Given the description of an element on the screen output the (x, y) to click on. 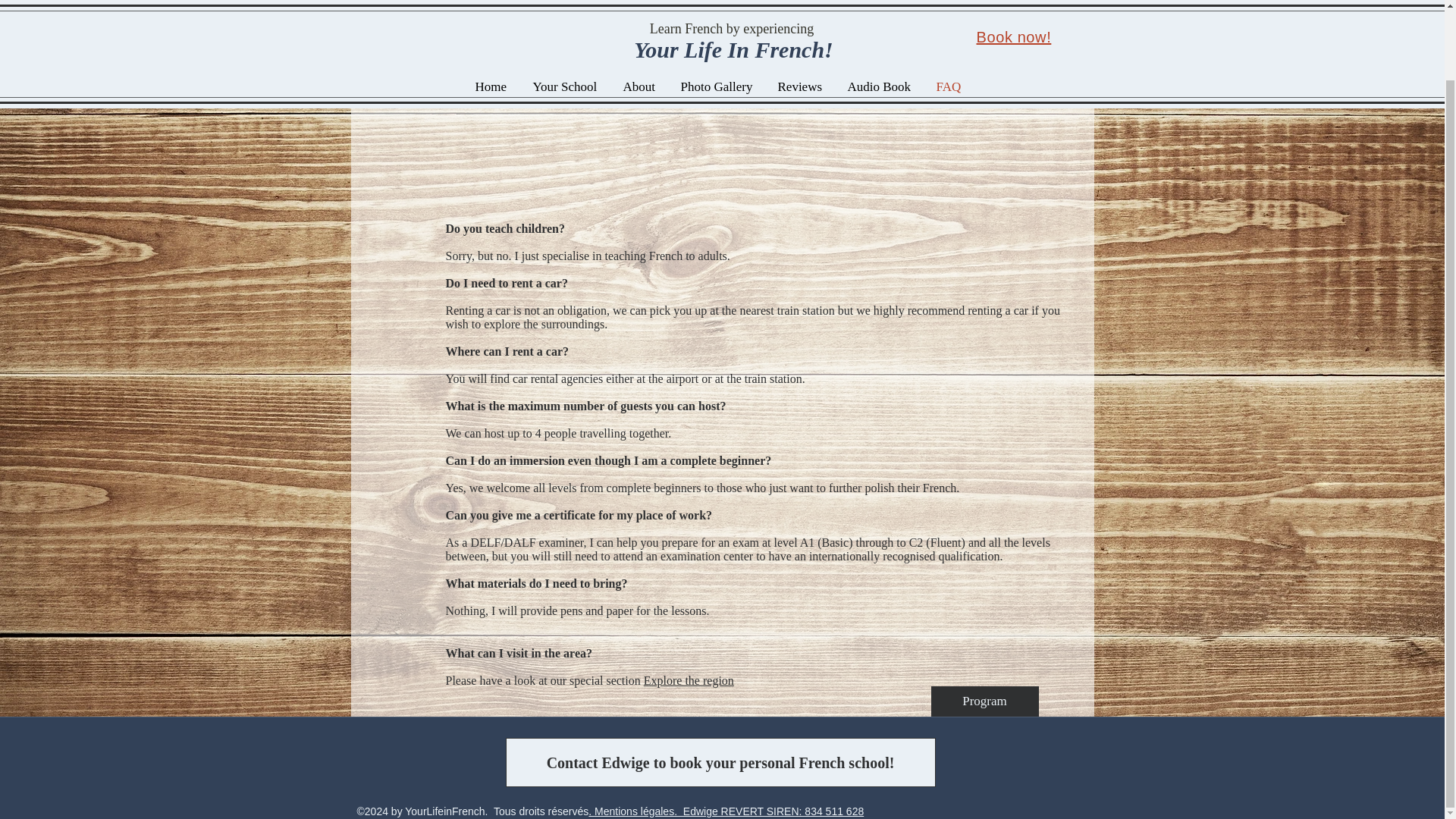
Program (985, 701)
Reviews (800, 11)
Explore the region (688, 680)
Photo Gallery (716, 11)
Home (492, 11)
FAQ (949, 11)
Audio Book (879, 11)
Contact Edwige to book your personal French school! (719, 762)
